Given the description of an element on the screen output the (x, y) to click on. 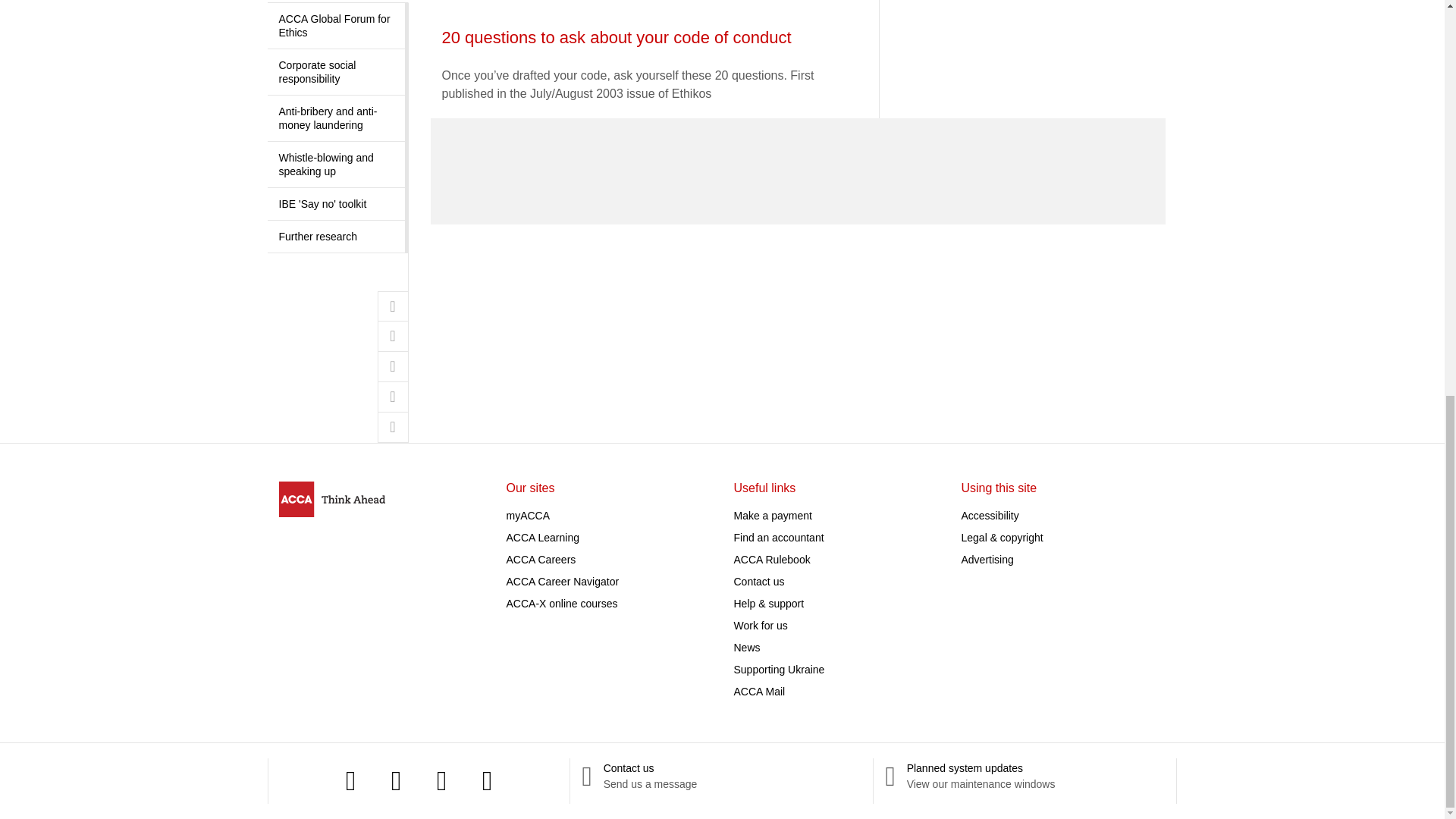
Find an accountant (778, 537)
ACCA Career Navigator (563, 581)
ACCA Learning (542, 537)
ACCA-X online courses (561, 603)
Supporting Ukraine (779, 669)
ACCA Careers (541, 559)
ACCA Rulebook (771, 559)
Contact us (758, 581)
Accessibility (989, 515)
myACCA (528, 515)
